Given the description of an element on the screen output the (x, y) to click on. 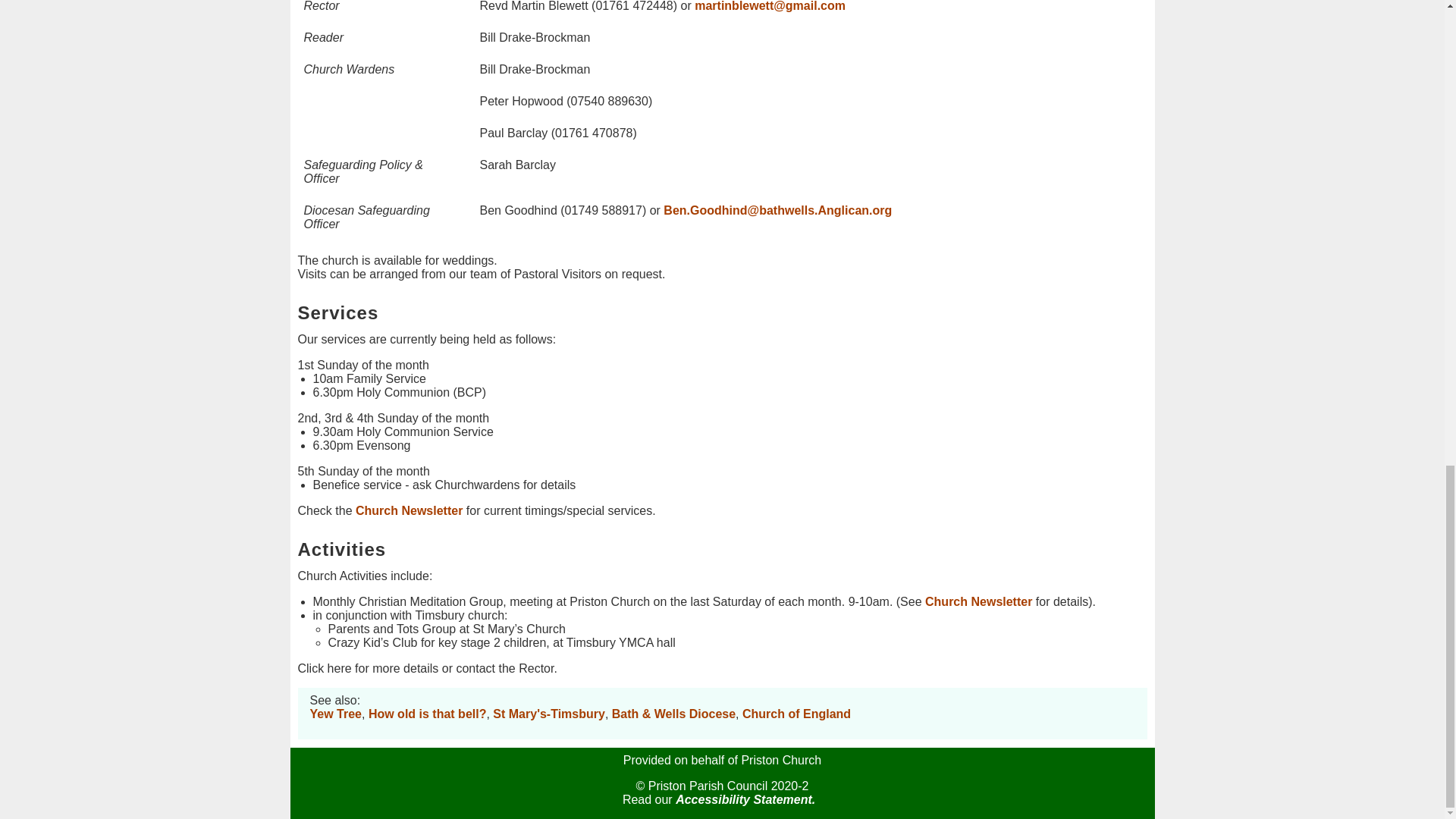
Church of England (796, 713)
Yew Tree (334, 713)
Church Newsletter (978, 601)
St Mary's-Timsbury (549, 713)
How old is that bell? (427, 713)
Church Newsletter (409, 510)
